Given the description of an element on the screen output the (x, y) to click on. 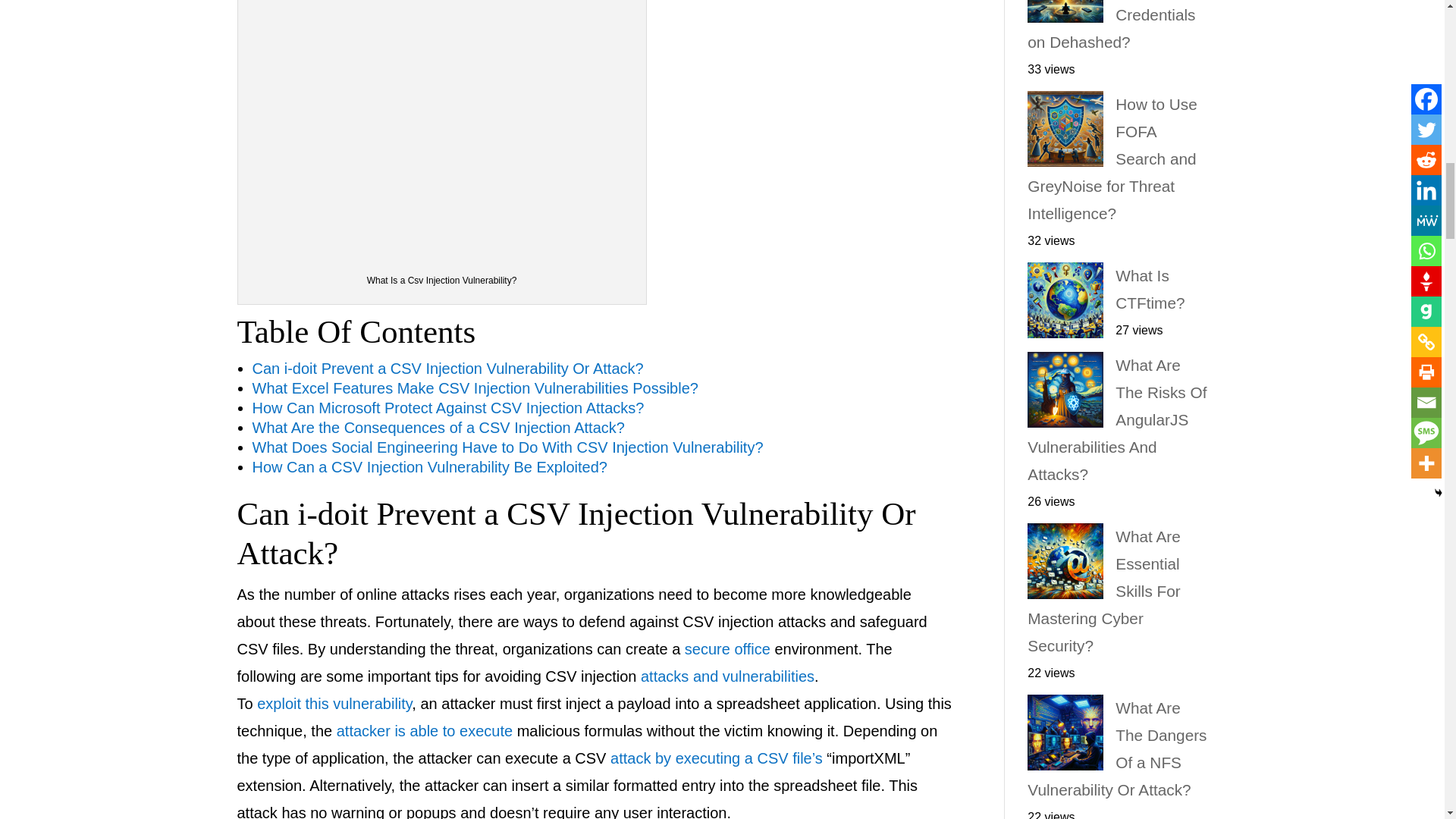
Can i-doit Prevent a CSV Injection Vulnerability Or Attack? (447, 368)
What Is a Csv Injection Vulnerability? (442, 129)
